Given the description of an element on the screen output the (x, y) to click on. 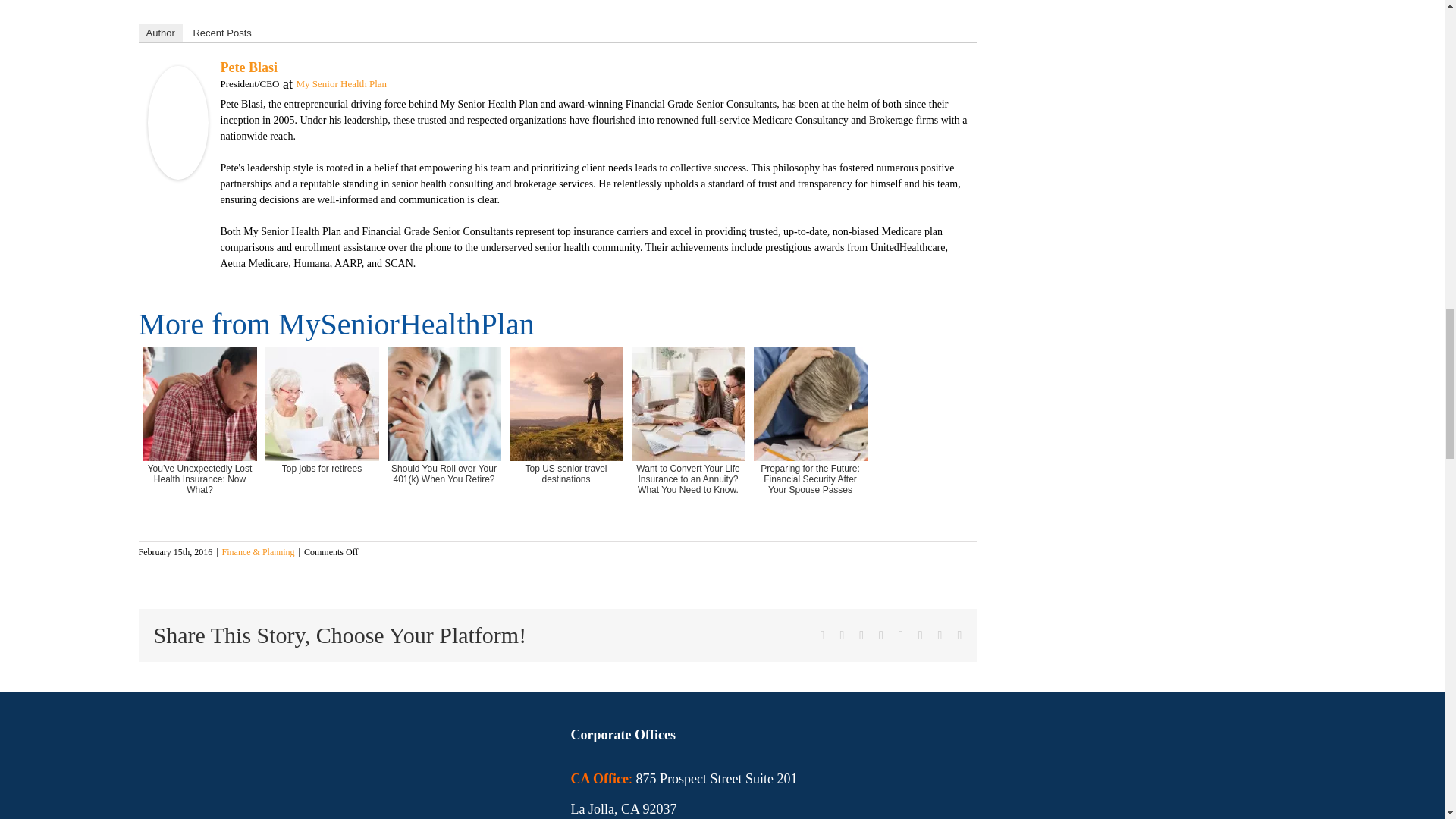
Pete Blasi (177, 74)
